Given the description of an element on the screen output the (x, y) to click on. 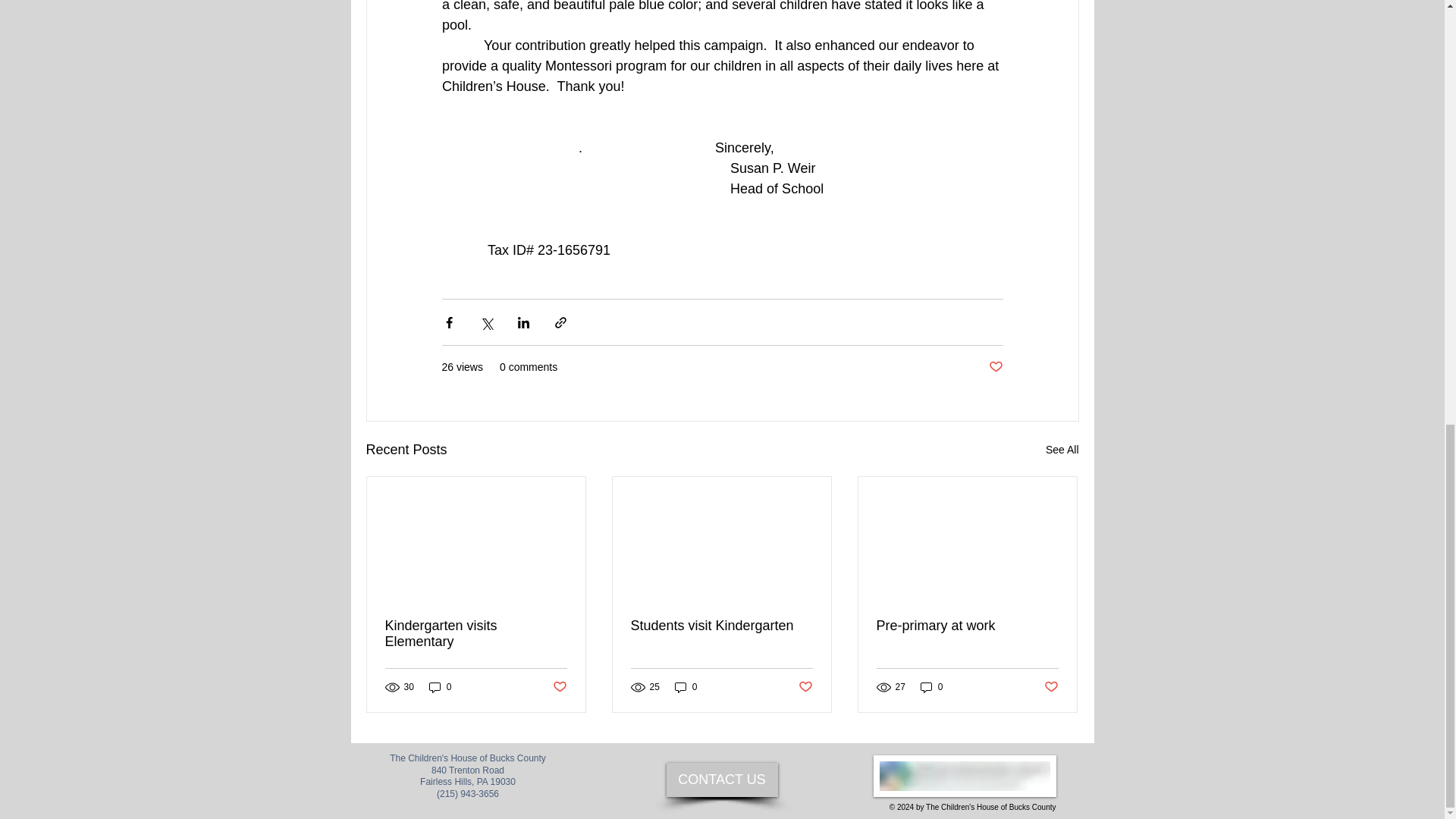
0 (440, 687)
Students visit Kindergarten (721, 625)
Post not marked as liked (558, 687)
Post not marked as liked (995, 367)
Kindergarten visits Elementary (476, 634)
See All (1061, 449)
